Given the description of an element on the screen output the (x, y) to click on. 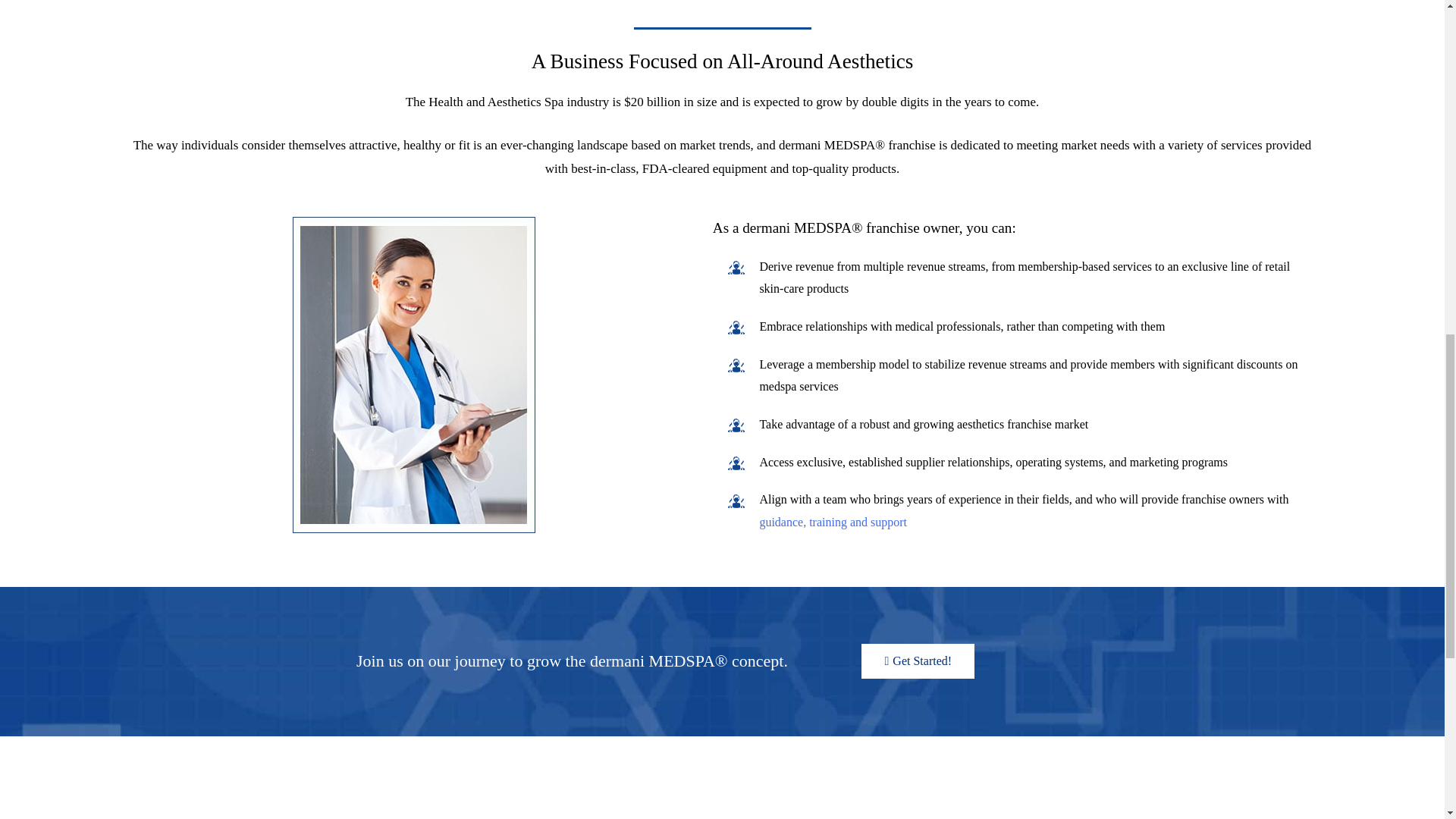
guidance, training and support (832, 521)
Get Started! (917, 660)
